Given the description of an element on the screen output the (x, y) to click on. 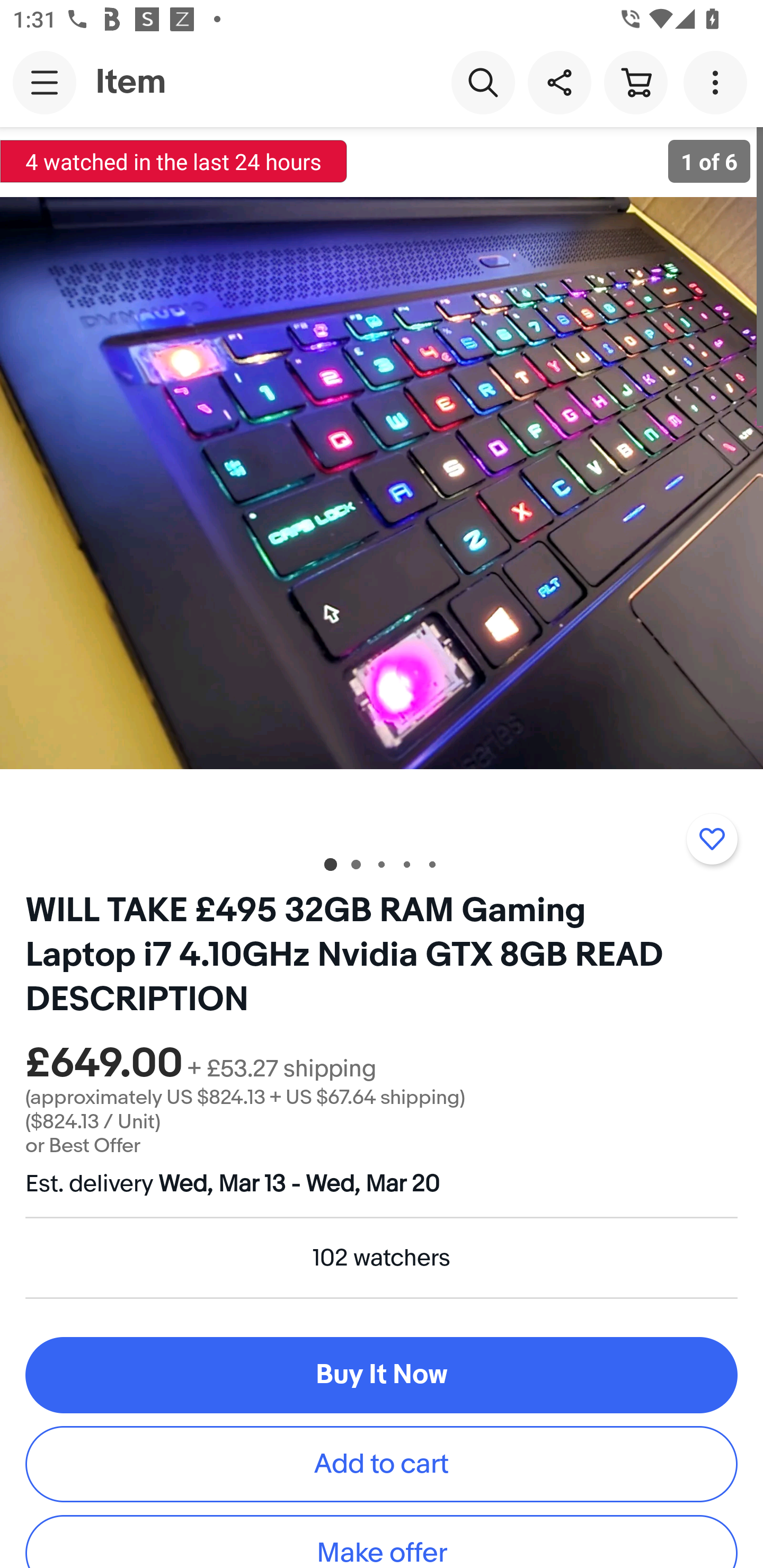
Main navigation, open (44, 82)
Search (482, 81)
Share this item (559, 81)
Cart button shopping cart (635, 81)
More options (718, 81)
Item image 1 of 6 (381, 482)
4 watched in the last 24 hours (173, 161)
Add to watchlist (711, 838)
Buy It Now (381, 1374)
Add to cart (381, 1463)
Make offer (381, 1541)
